Given the description of an element on the screen output the (x, y) to click on. 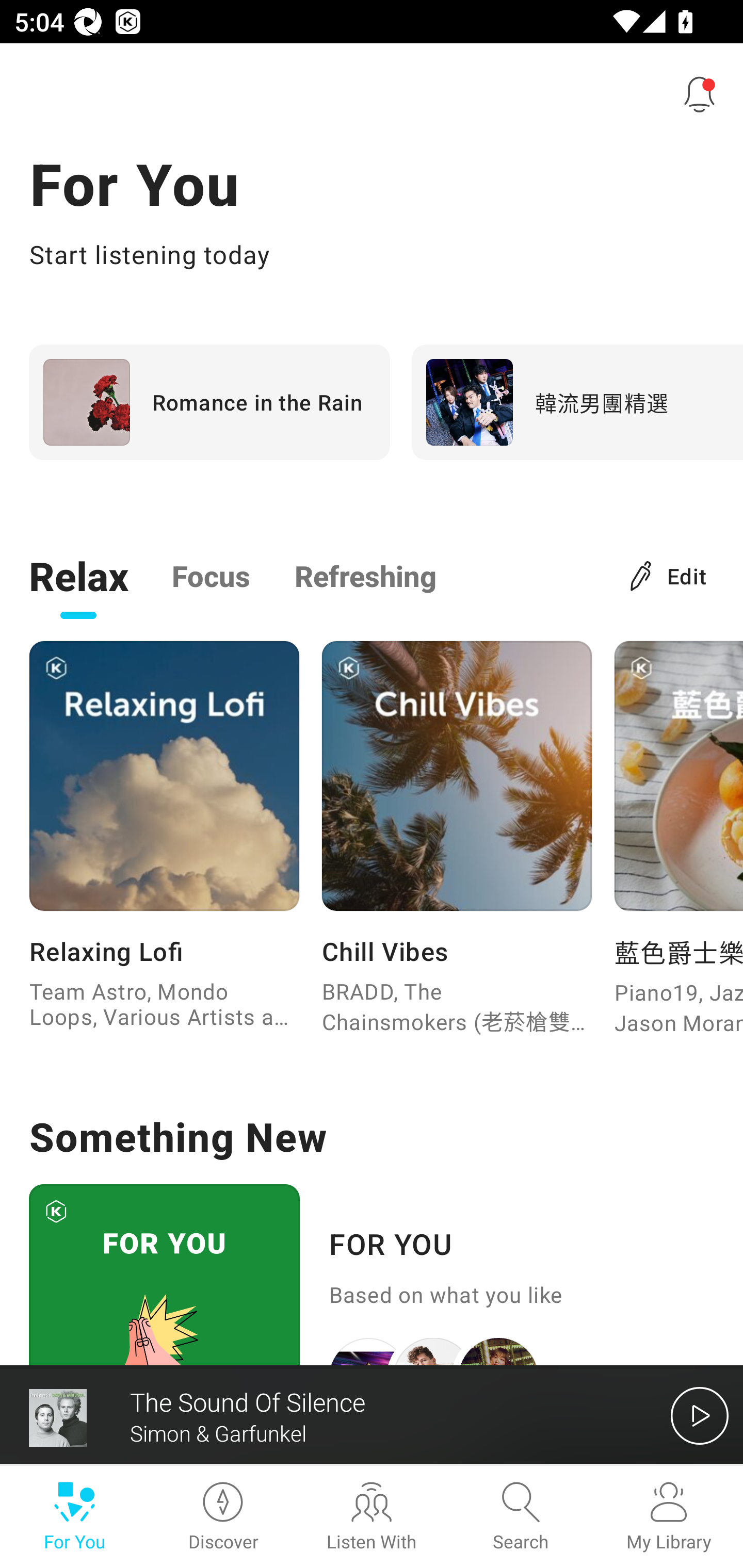
Notification (699, 93)
view_image Romance in the Rain (209, 401)
view_image 韓流男團精選 (577, 401)
Focus (211, 575)
Refreshing (365, 575)
Edit (668, 575)
開始播放 (699, 1415)
For You (74, 1517)
Discover (222, 1517)
Listen With (371, 1517)
Search (519, 1517)
My Library (668, 1517)
